Given the description of an element on the screen output the (x, y) to click on. 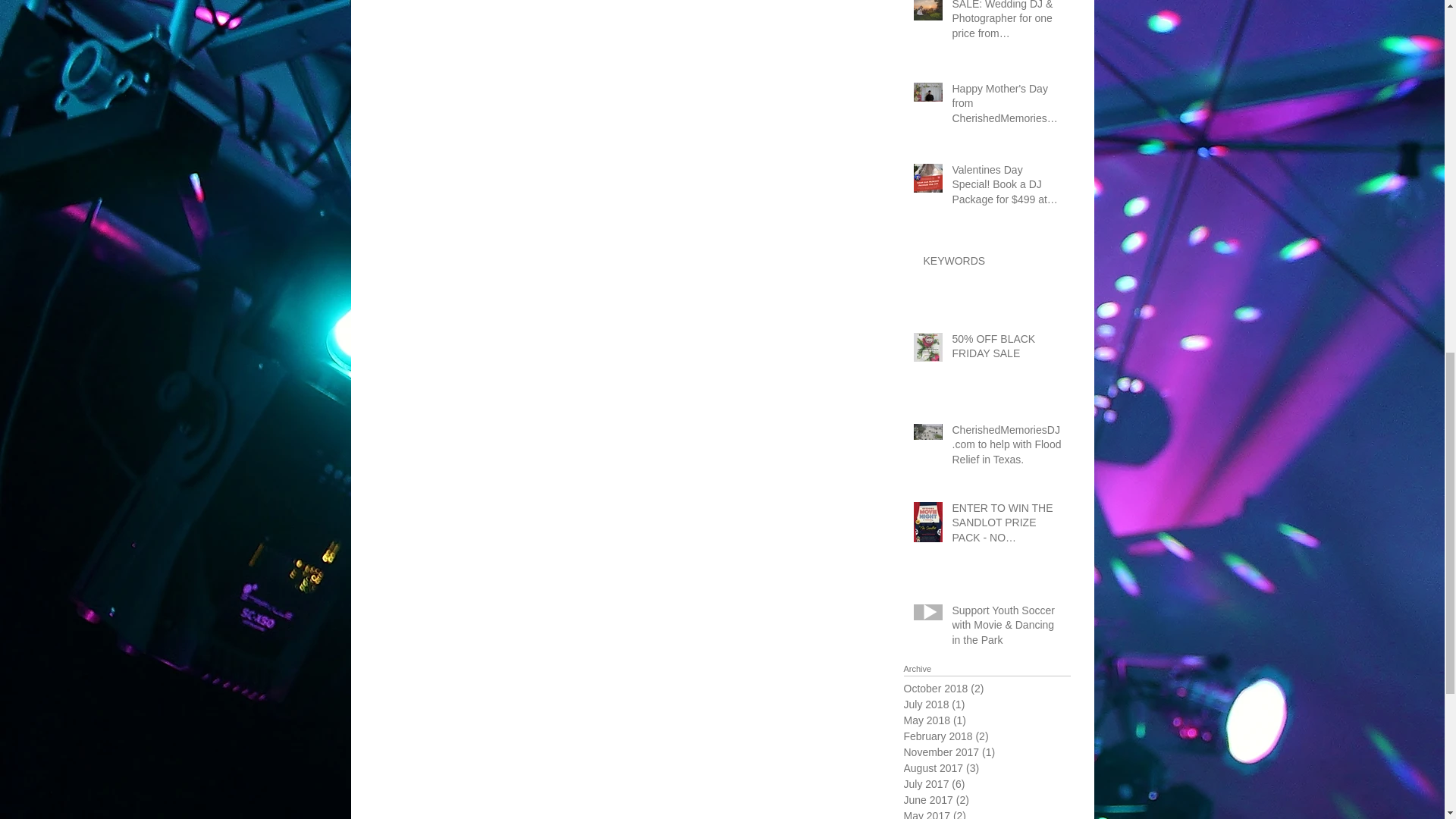
ENTER TO WIN THE SANDLOT PRIZE PACK - NO PURCHASE NECESSARY (1006, 526)
KEYWORDS (992, 264)
CherishedMemoriesDJ.com to help with Flood Relief in Texas. (1006, 448)
Happy Mother's Day from CherishedMemoriesDJ.com (1006, 106)
